Given the description of an element on the screen output the (x, y) to click on. 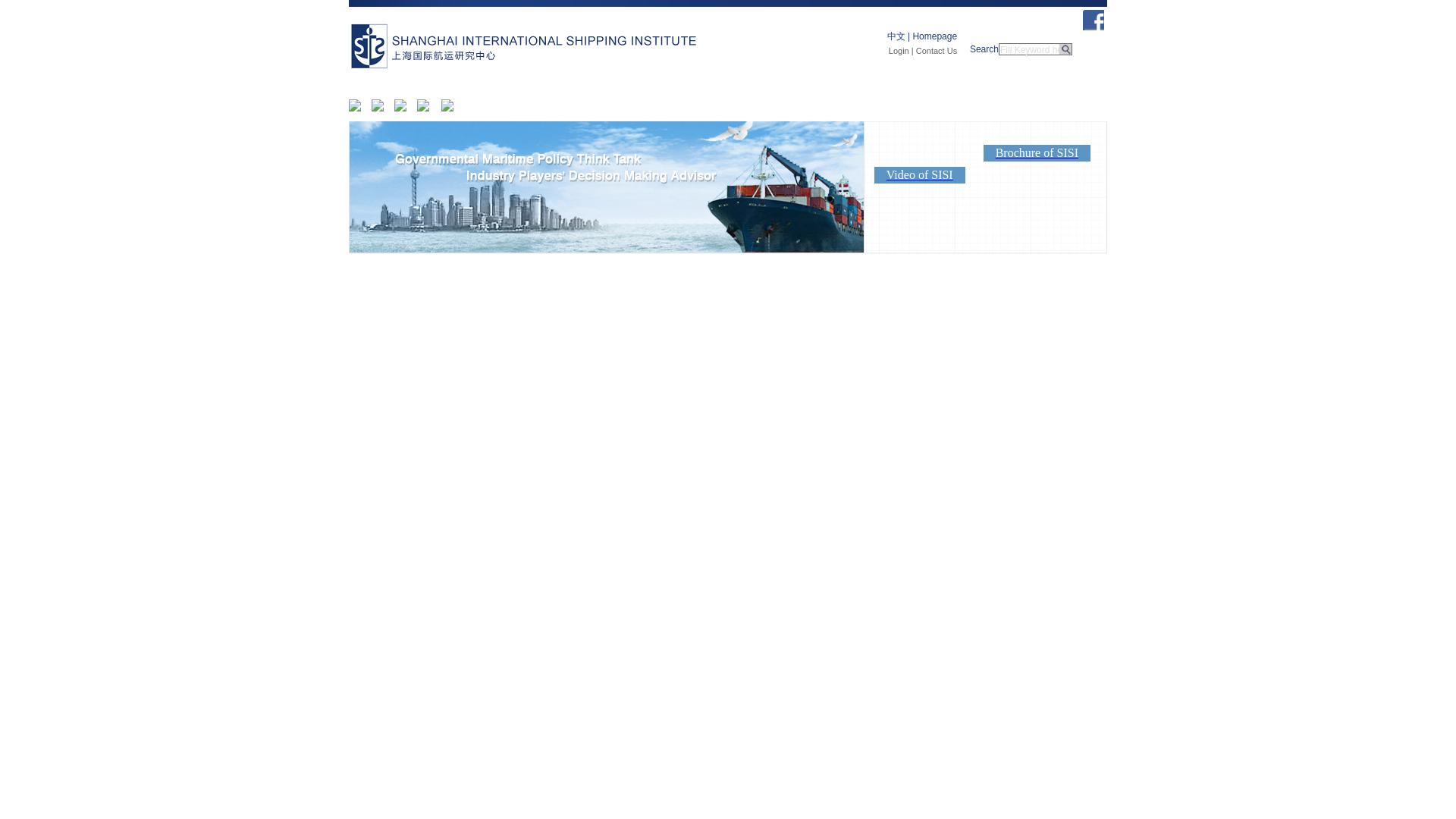
Video of SISI (920, 164)
Brochure of SISI (1037, 146)
Facebook (1093, 28)
Fill Keyword here! (1028, 50)
Contact Us (935, 50)
Homepage (934, 36)
homepage (519, 49)
